Given the description of an element on the screen output the (x, y) to click on. 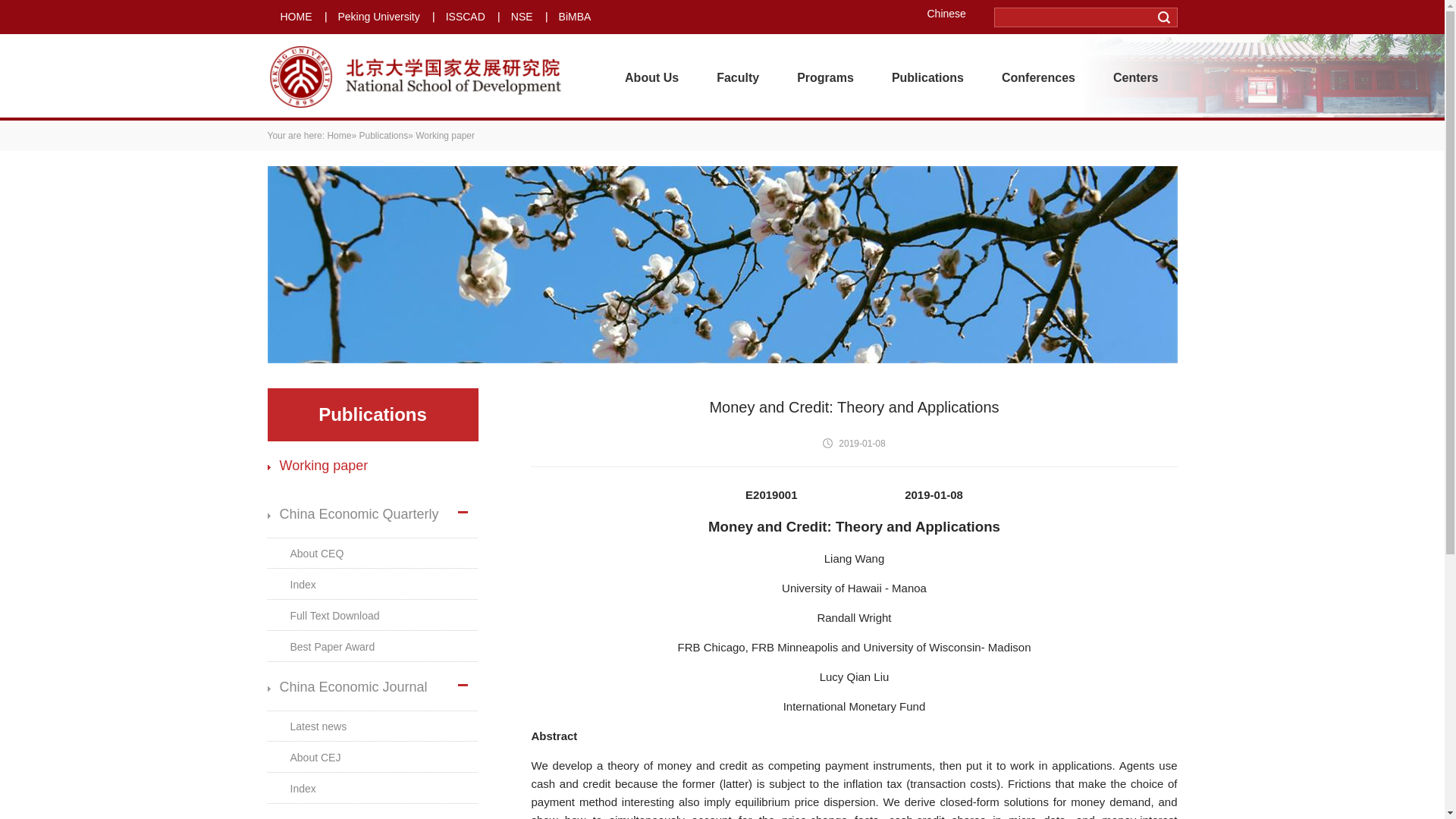
About Us (651, 77)
HOME (297, 16)
Programs (824, 77)
Chinese (950, 13)
Publications (927, 77)
NSE (521, 16)
BiMBA (575, 16)
Faculty (737, 77)
ISSCAD (464, 16)
Peking University (378, 16)
